Given the description of an element on the screen output the (x, y) to click on. 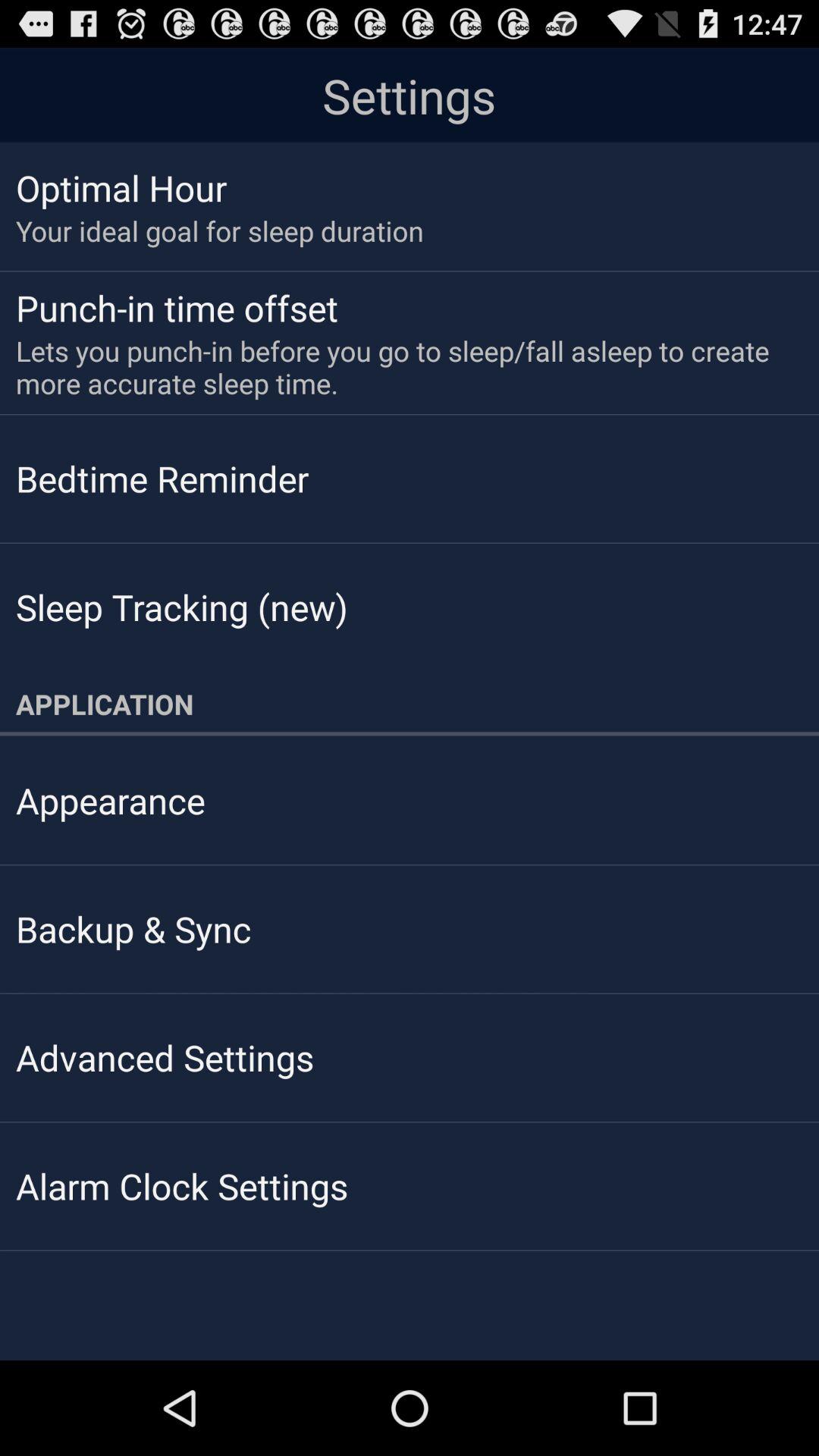
launch the icon below the punch in time icon (399, 367)
